Given the description of an element on the screen output the (x, y) to click on. 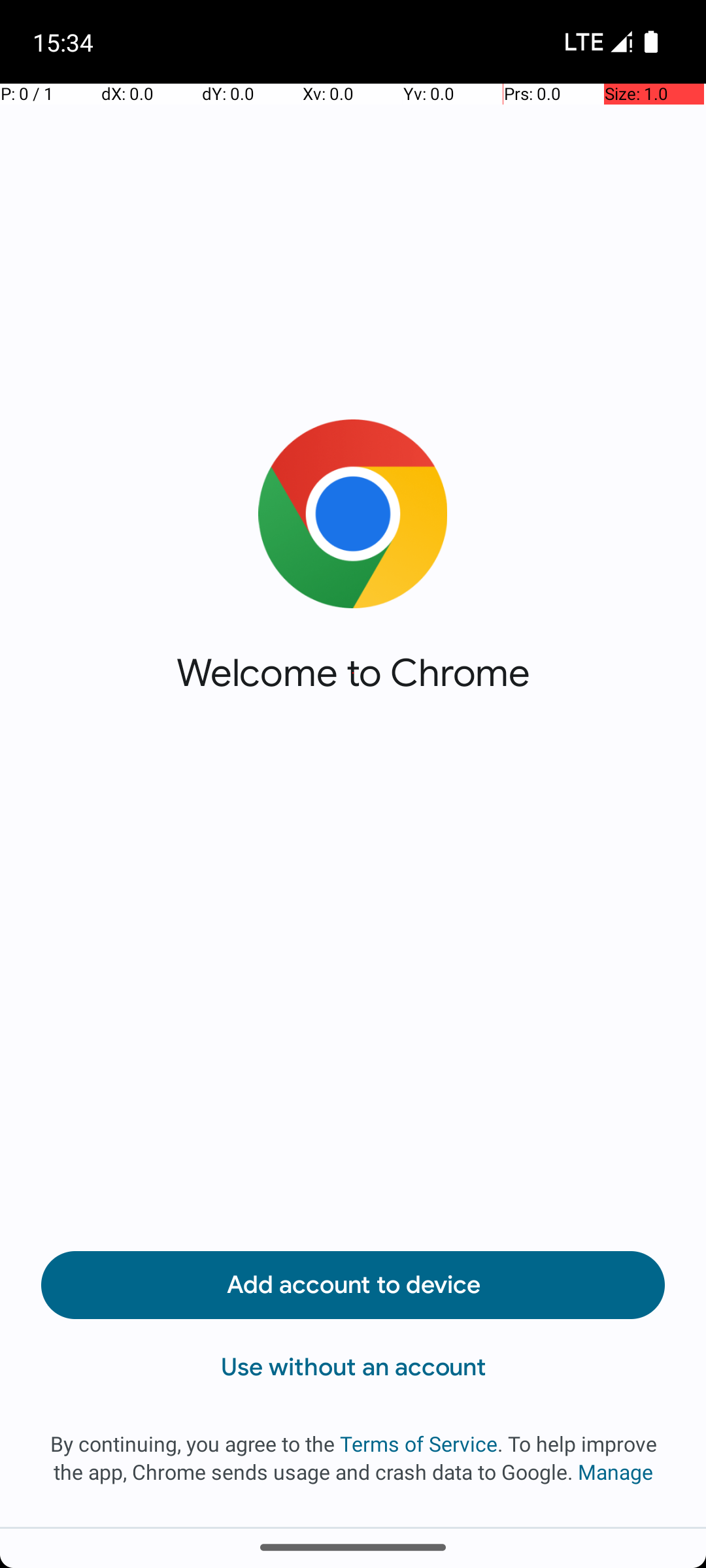
By continuing, you agree to the Terms of Service. To help improve the app, Chrome sends usage and crash data to Google. Manage Element type: android.widget.TextView (352, 1457)
Add account to device Element type: android.widget.Button (352, 1284)
Use without an account Element type: android.widget.Button (352, 1367)
